Given the description of an element on the screen output the (x, y) to click on. 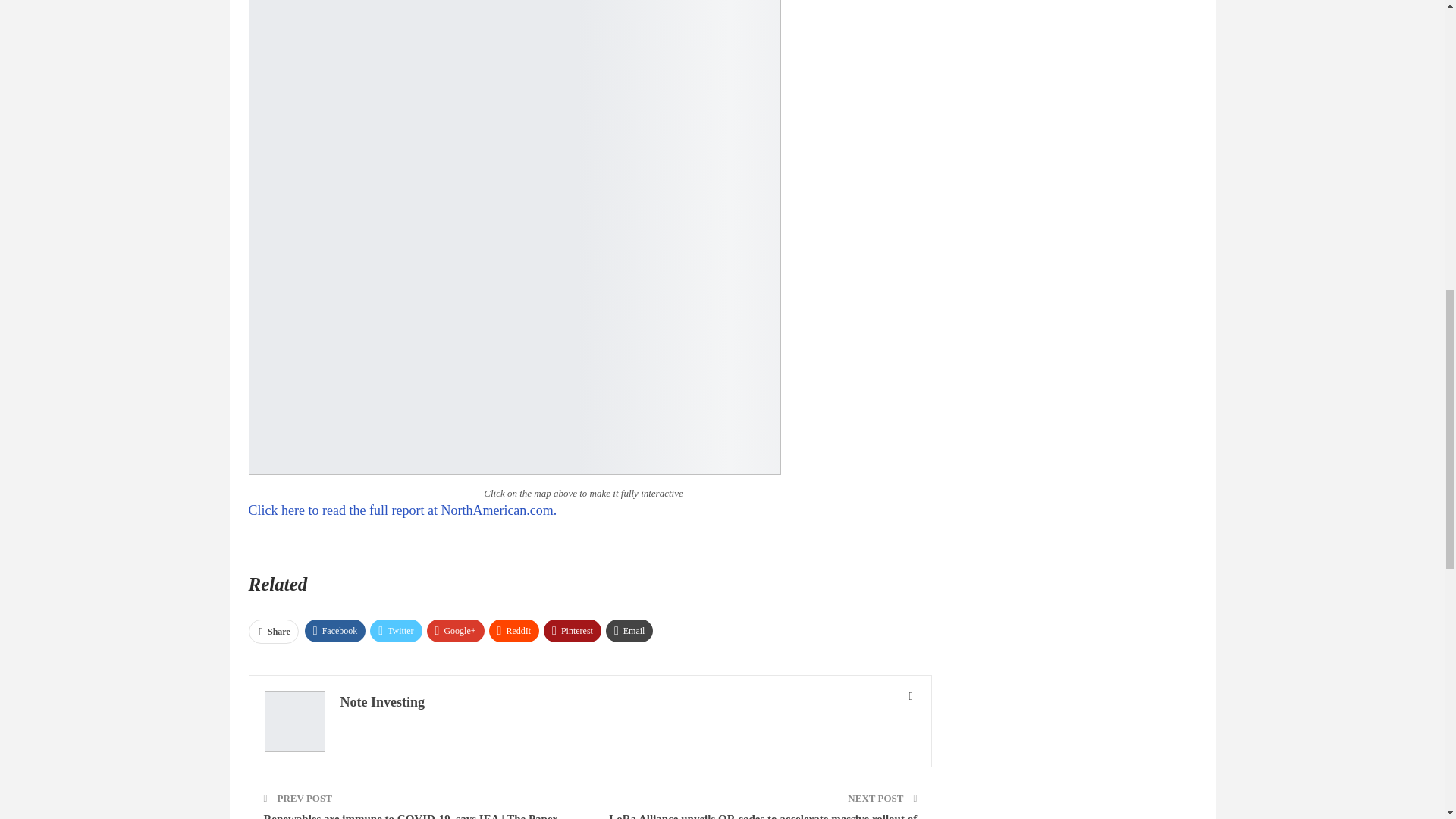
ReddIt (514, 630)
Twitter (395, 630)
Facebook (335, 630)
Pinterest (572, 630)
Note Investing (382, 702)
Click here to read the full report at NorthAmerican.com. (402, 509)
Email (629, 630)
